Given the description of an element on the screen output the (x, y) to click on. 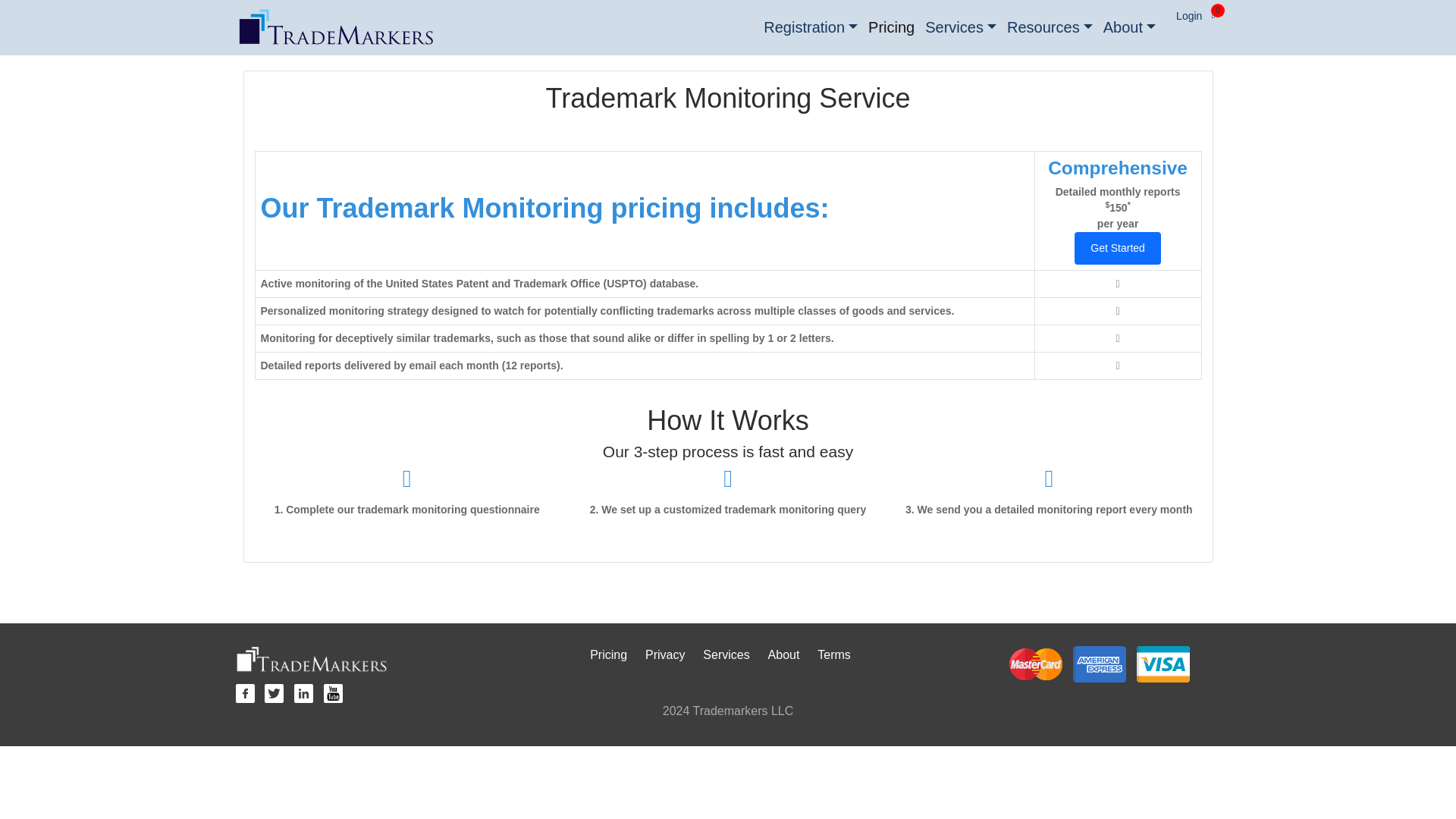
Registration (810, 26)
About (1128, 26)
0 (1212, 13)
Get Started (1117, 247)
Services (960, 26)
Pricing (891, 26)
Login (1188, 16)
Resources (1049, 26)
